Given the description of an element on the screen output the (x, y) to click on. 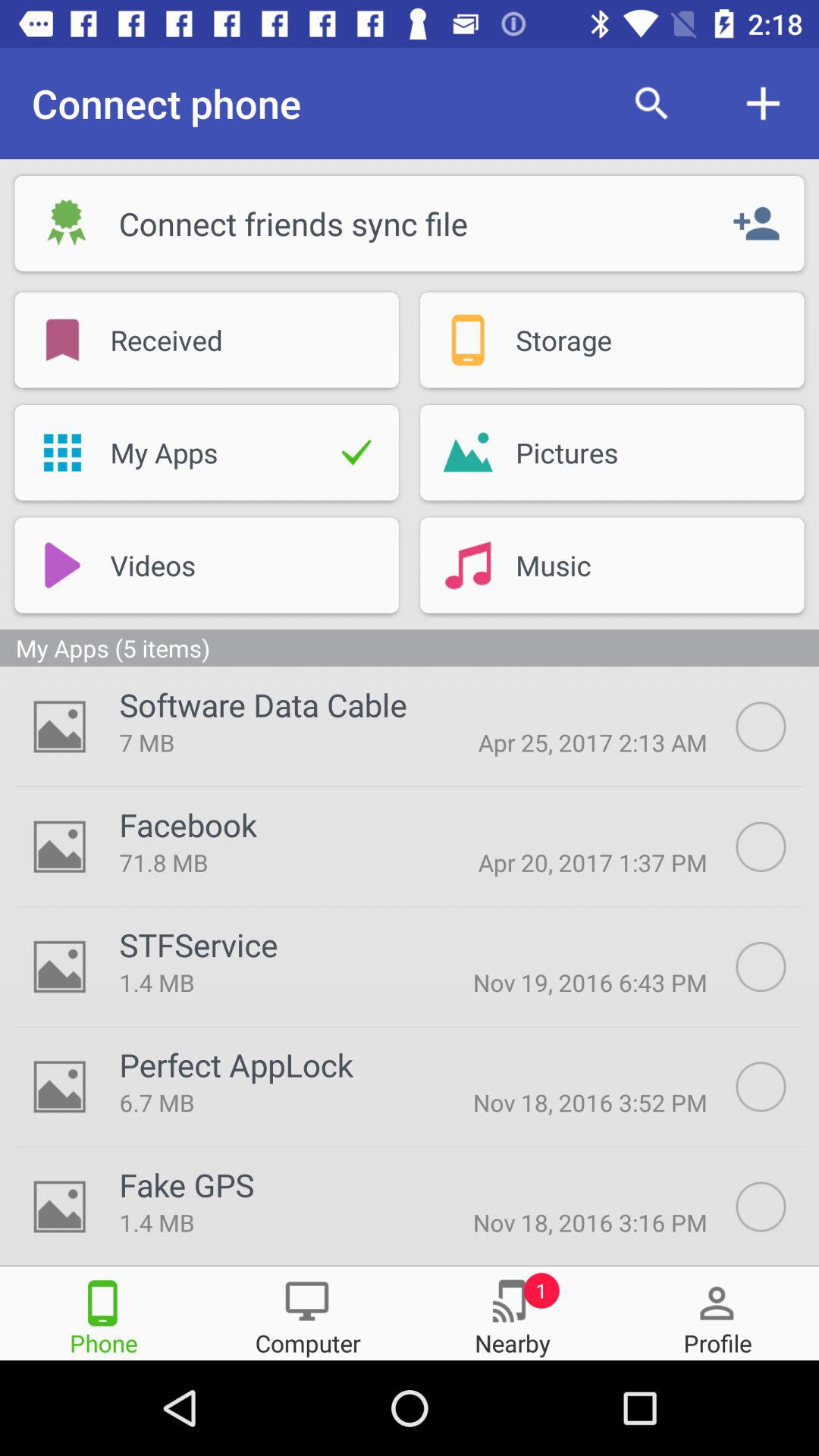
select the app below facebook app (266, 862)
